Given the description of an element on the screen output the (x, y) to click on. 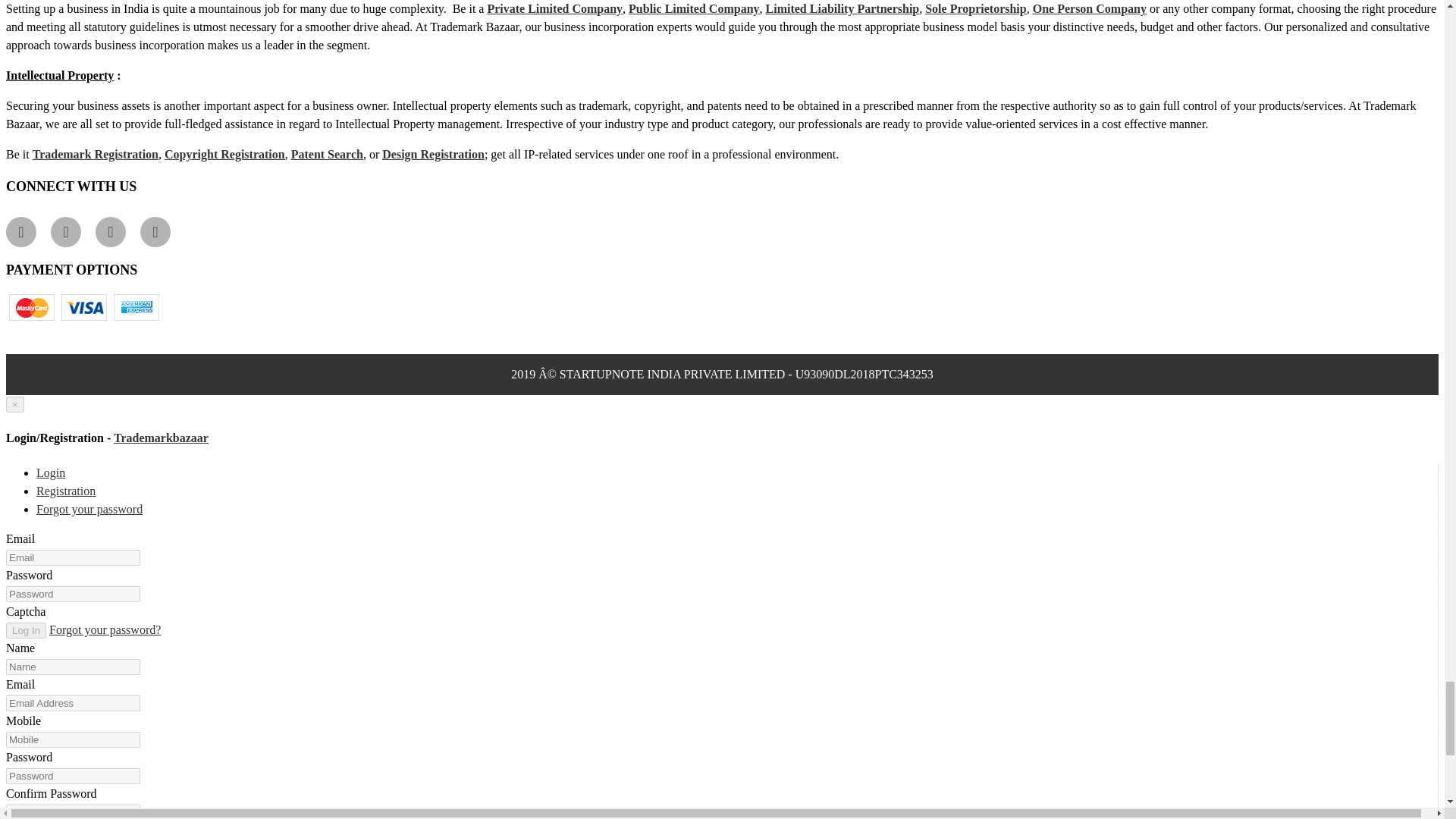
Log In (25, 630)
